Given the description of an element on the screen output the (x, y) to click on. 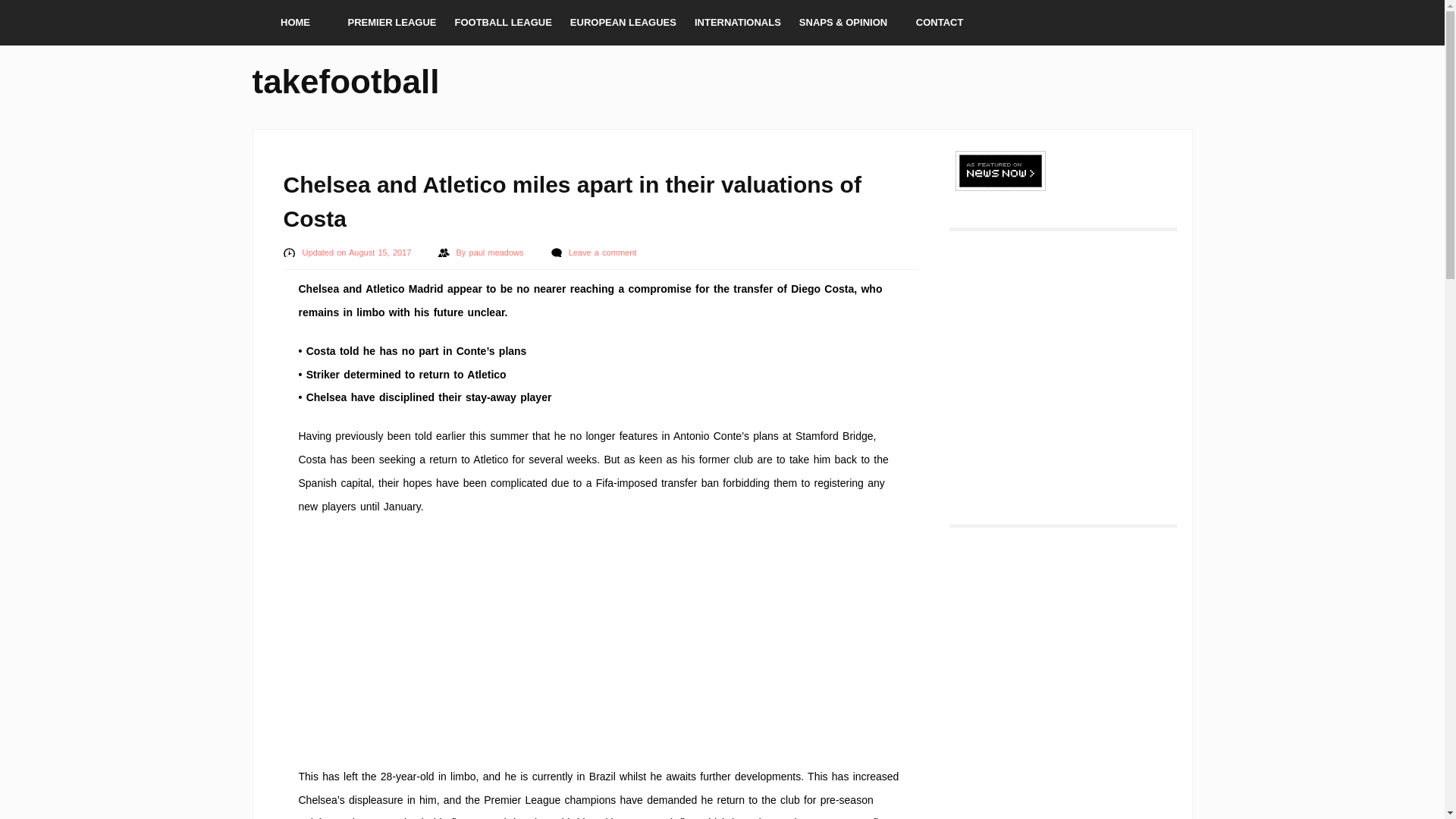
INTERNATIONALS (737, 22)
FOOTBALL LEAGUE (502, 22)
takefootball (345, 79)
CONTACT (939, 22)
PREMIER LEAGUE (391, 22)
EUROPEAN LEAGUES (622, 22)
Advertisement (600, 639)
paul meadows (497, 252)
HOME (294, 22)
Leave a comment (603, 252)
